Given the description of an element on the screen output the (x, y) to click on. 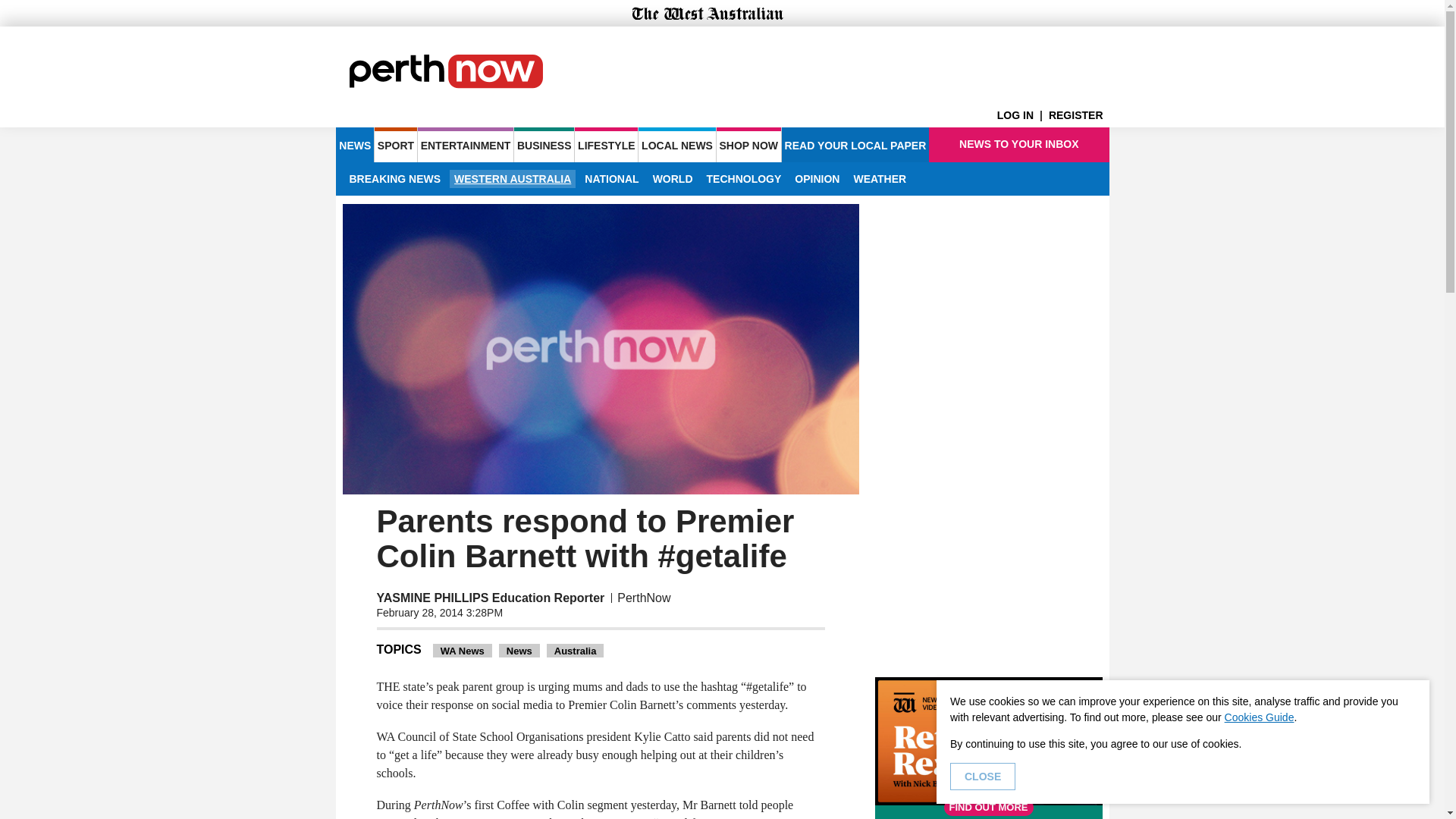
ENTERTAINMENT (465, 144)
LOG IN (1022, 115)
SPORT (395, 144)
NEWS (354, 144)
REGISTER (1078, 115)
